Given the description of an element on the screen output the (x, y) to click on. 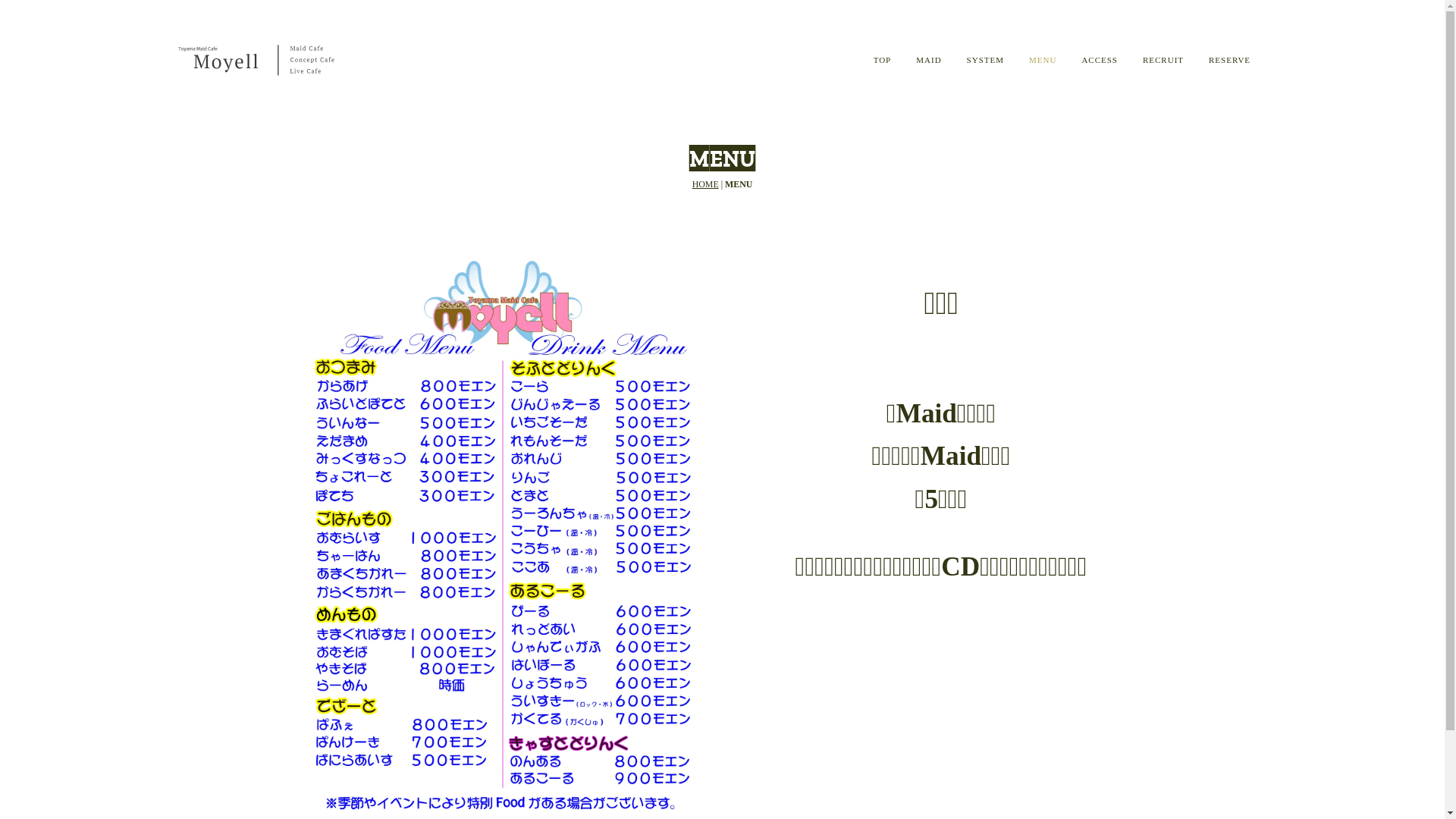
SYSTEM Element type: text (989, 59)
MAID Element type: text (932, 59)
RESERVE Element type: text (1233, 59)
MENU Element type: text (1046, 59)
ACCESS Element type: text (1103, 59)
HOME Element type: text (705, 183)
RECRUIT Element type: text (1167, 59)
TOP Element type: text (886, 59)
